Given the description of an element on the screen output the (x, y) to click on. 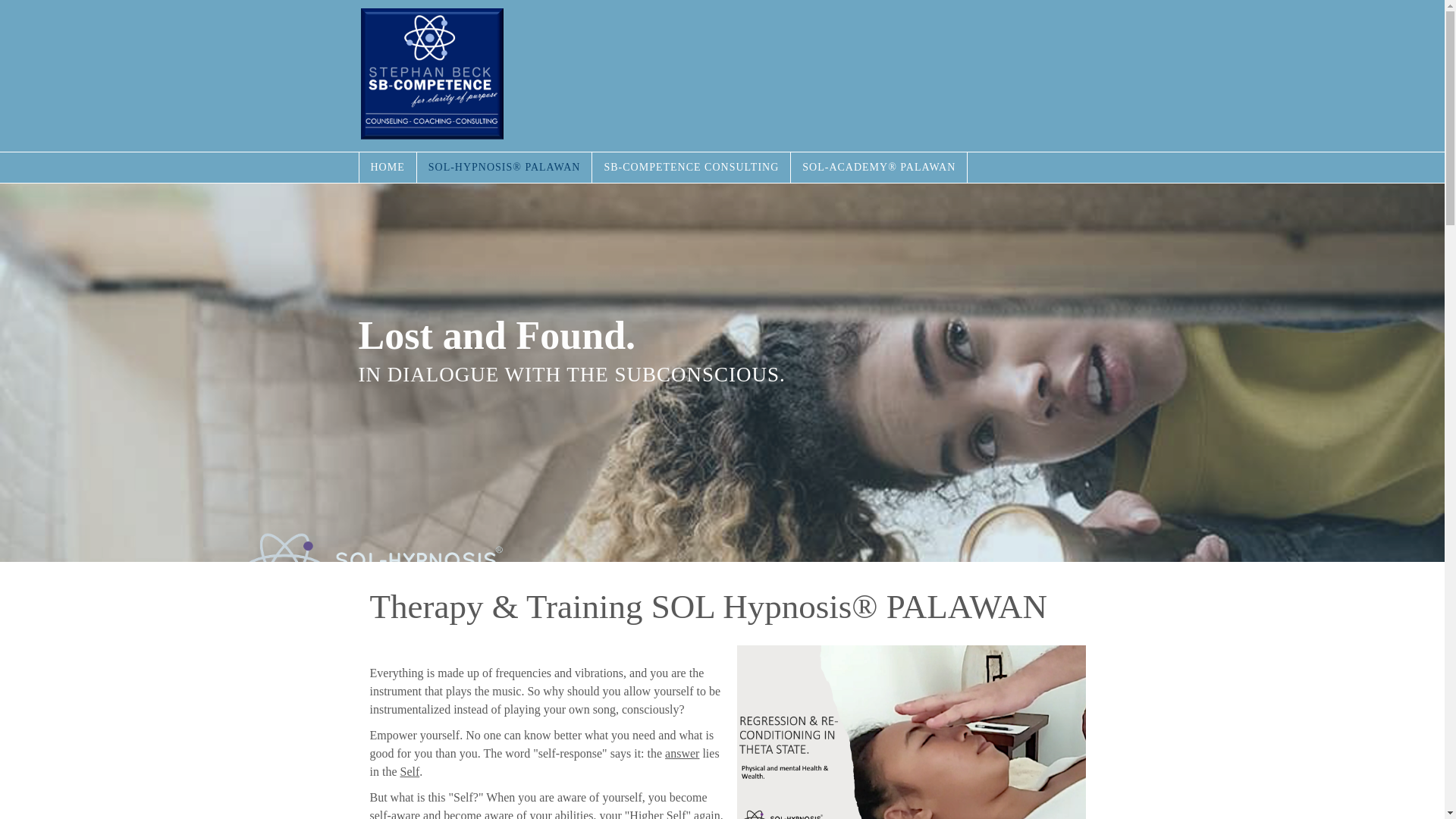
SB-COMPETENCE CONSULTING (691, 167)
HOME (387, 167)
